Given the description of an element on the screen output the (x, y) to click on. 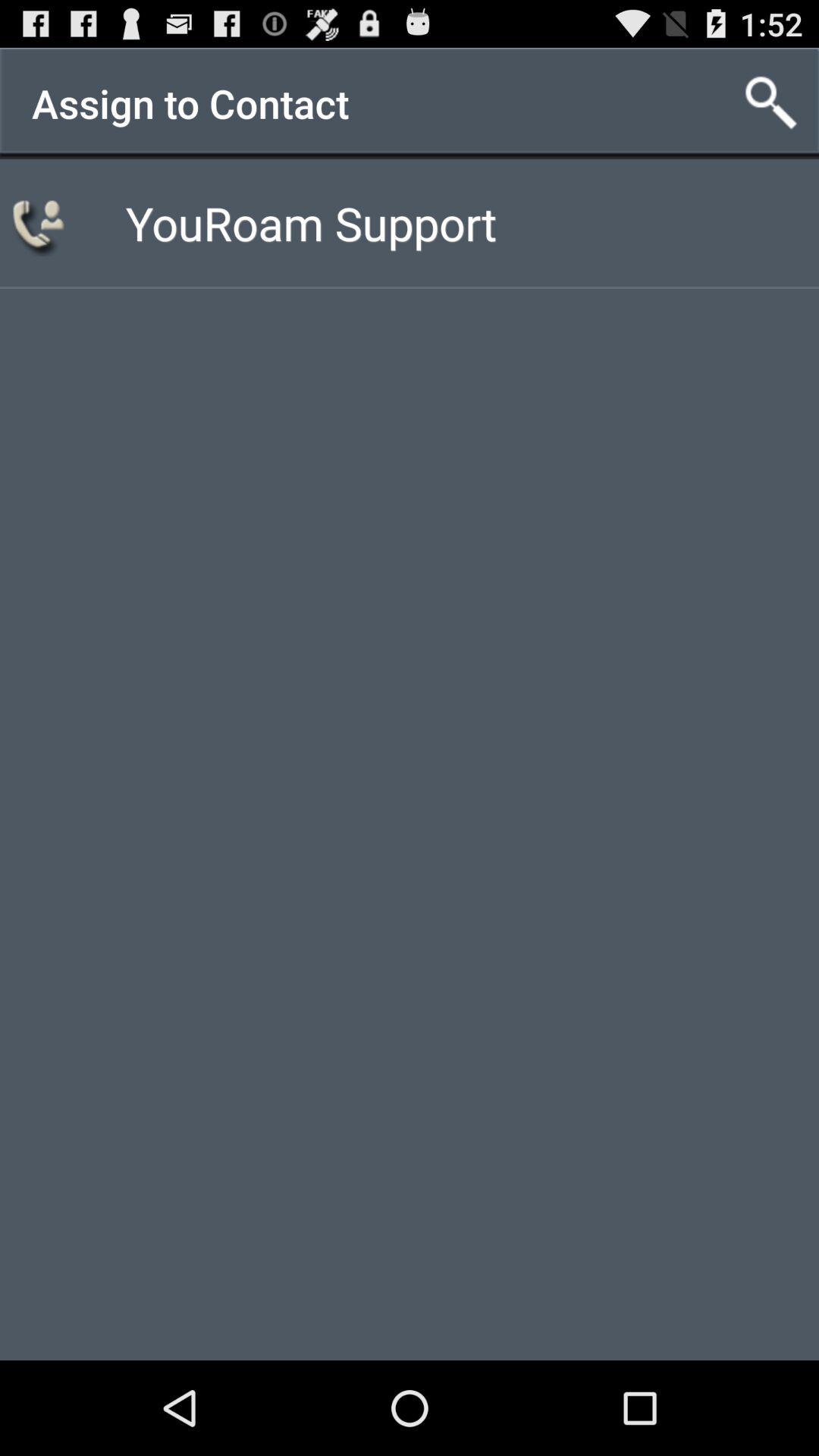
tap item to the left of youroam support (40, 222)
